Given the description of an element on the screen output the (x, y) to click on. 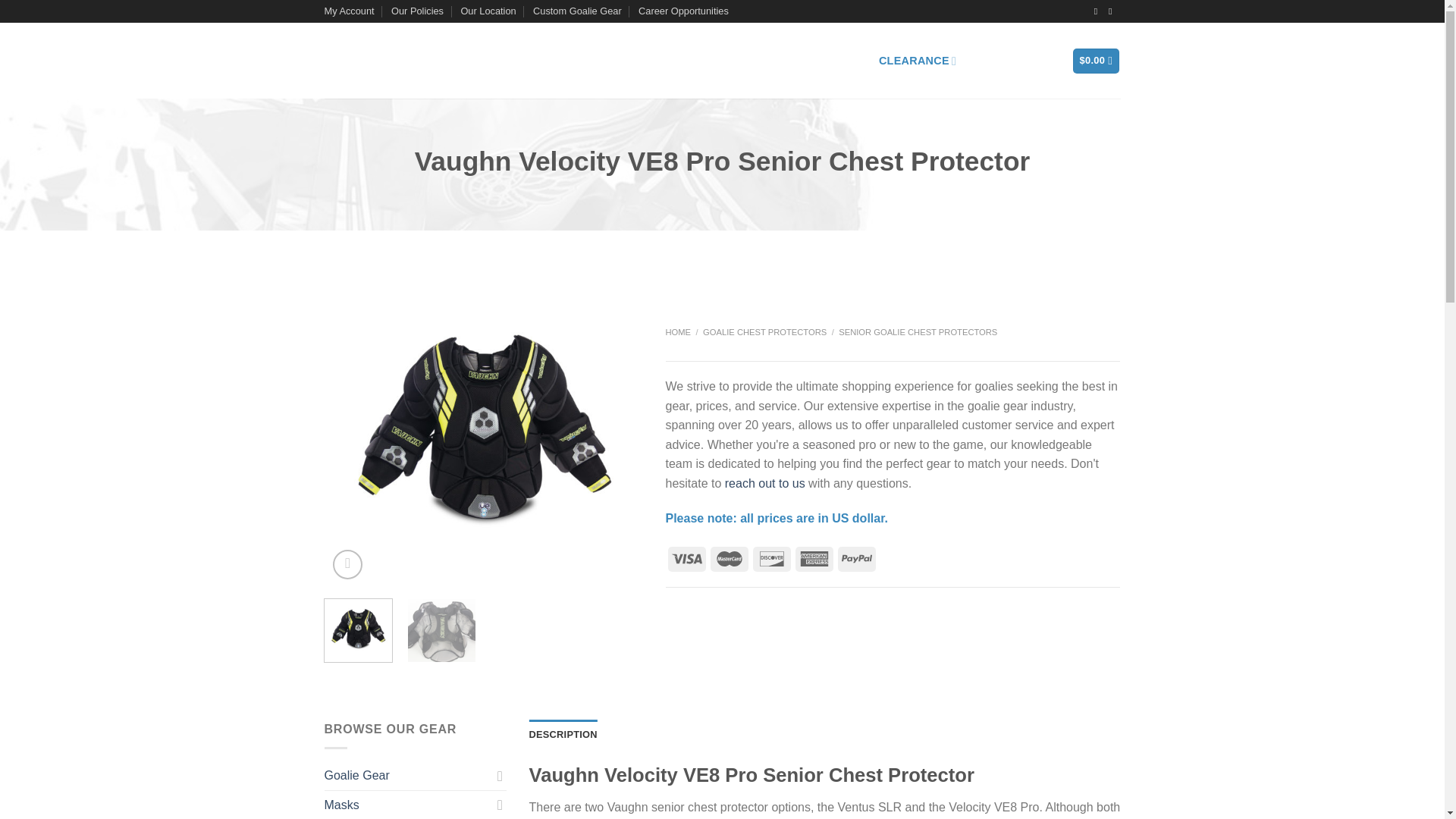
Our Location (487, 11)
Cart (1096, 60)
My Account (349, 11)
Zoom (347, 564)
Career Opportunities (684, 11)
GOALIE GEAR (516, 60)
Custom Goalie Gear (576, 11)
Our Policies (417, 11)
